Given the description of an element on the screen output the (x, y) to click on. 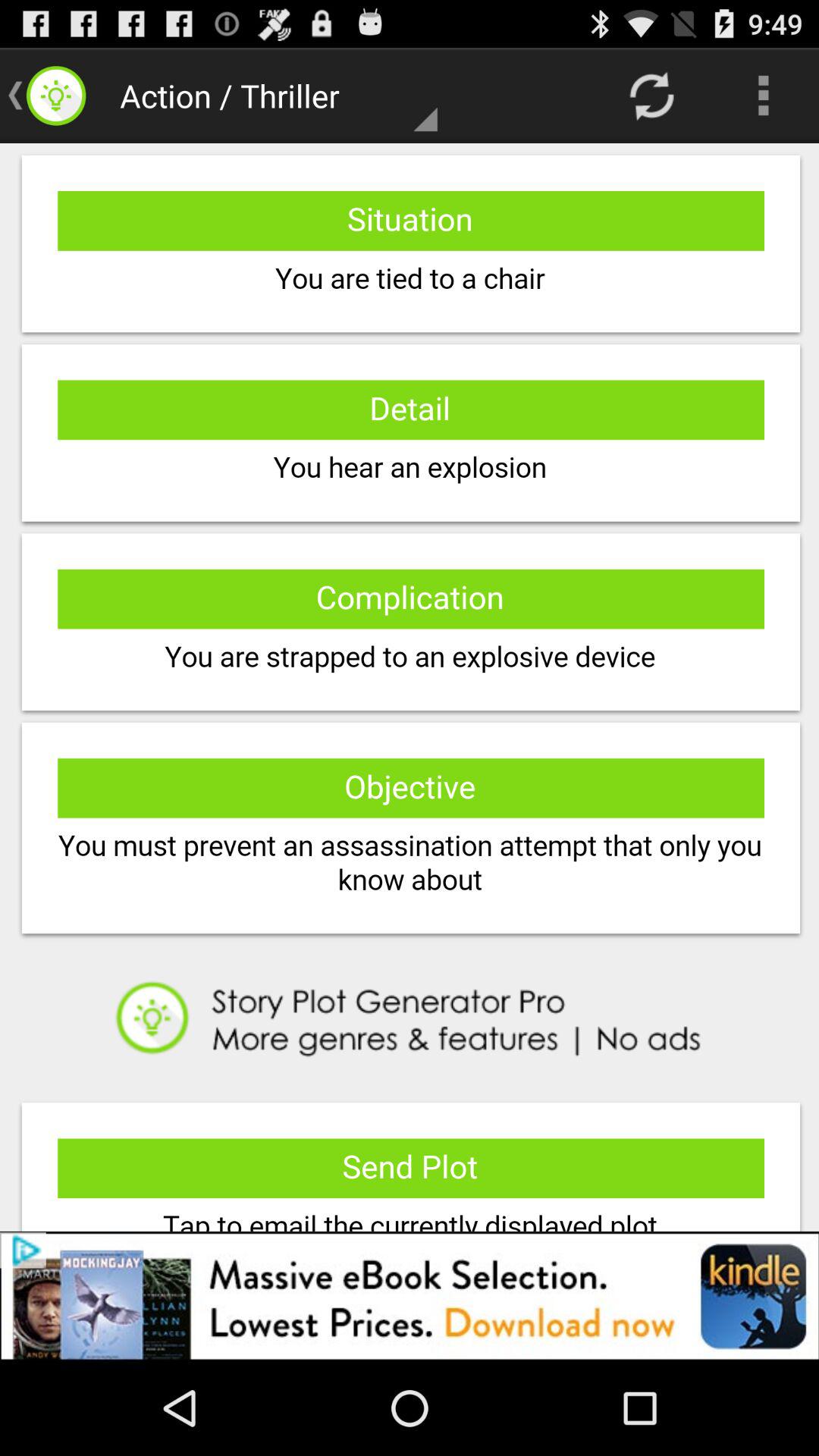
description (409, 687)
